Given the description of an element on the screen output the (x, y) to click on. 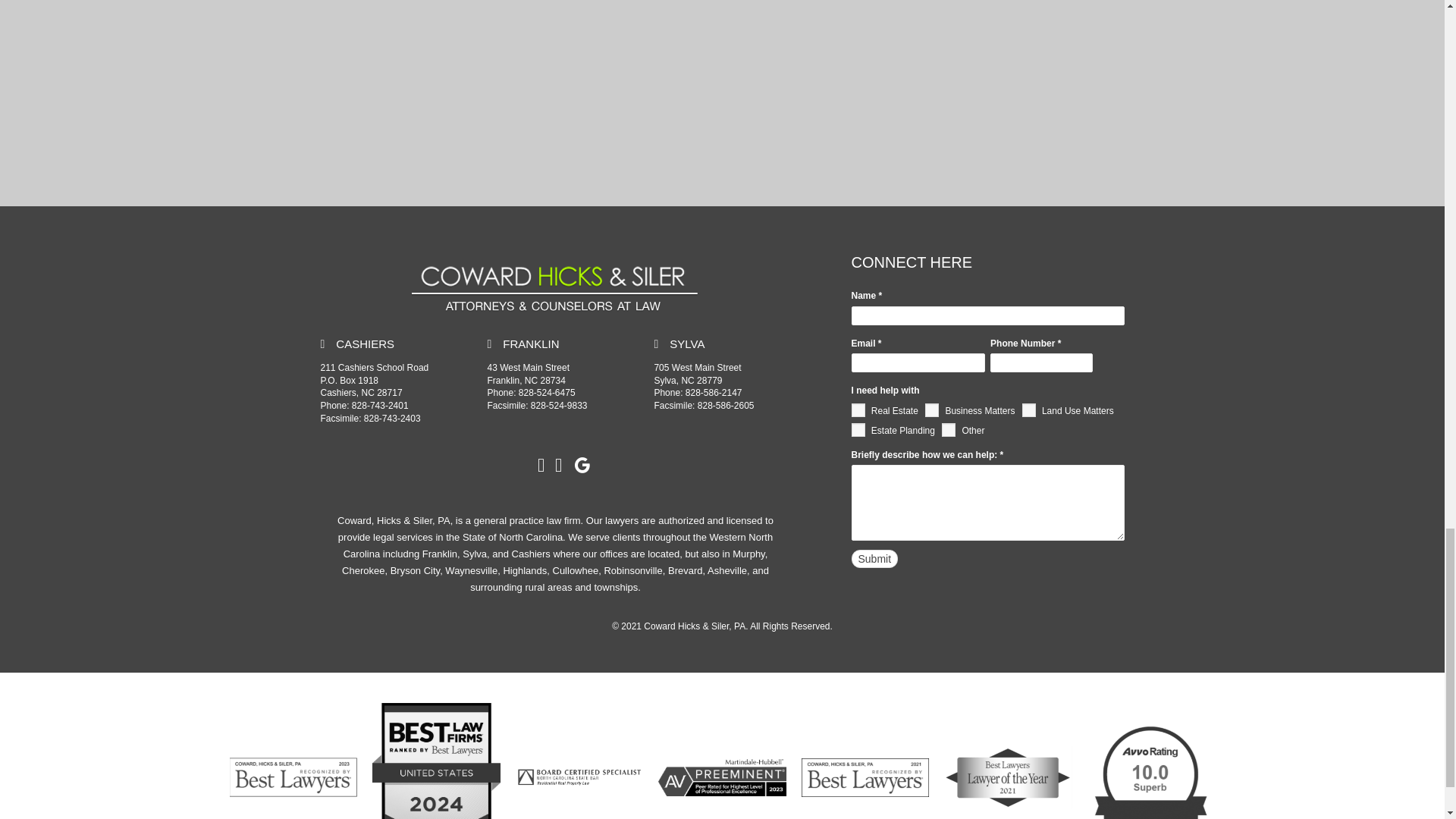
Real Estate (857, 409)
Estate Planding (857, 429)
Other (948, 429)
slideshow (554, 284)
Business Matters (931, 409)
Submit (874, 558)
Land Use Matters (1028, 409)
